Given the description of an element on the screen output the (x, y) to click on. 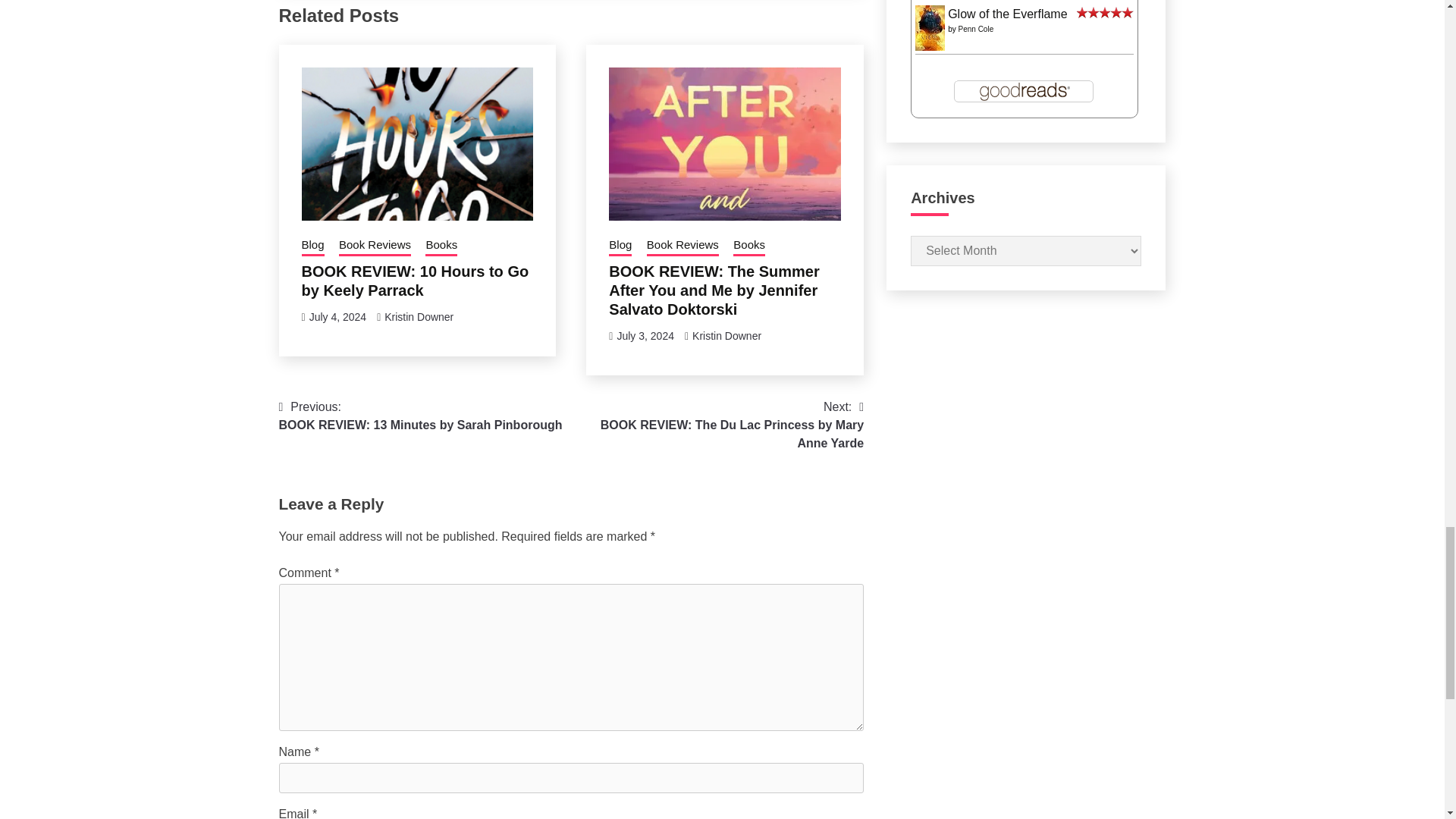
Book Reviews (374, 246)
Books (441, 246)
July 4, 2024 (337, 316)
Blog (312, 246)
BOOK REVIEW: 10 Hours to Go by Keely Parrack (415, 280)
